Given the description of an element on the screen output the (x, y) to click on. 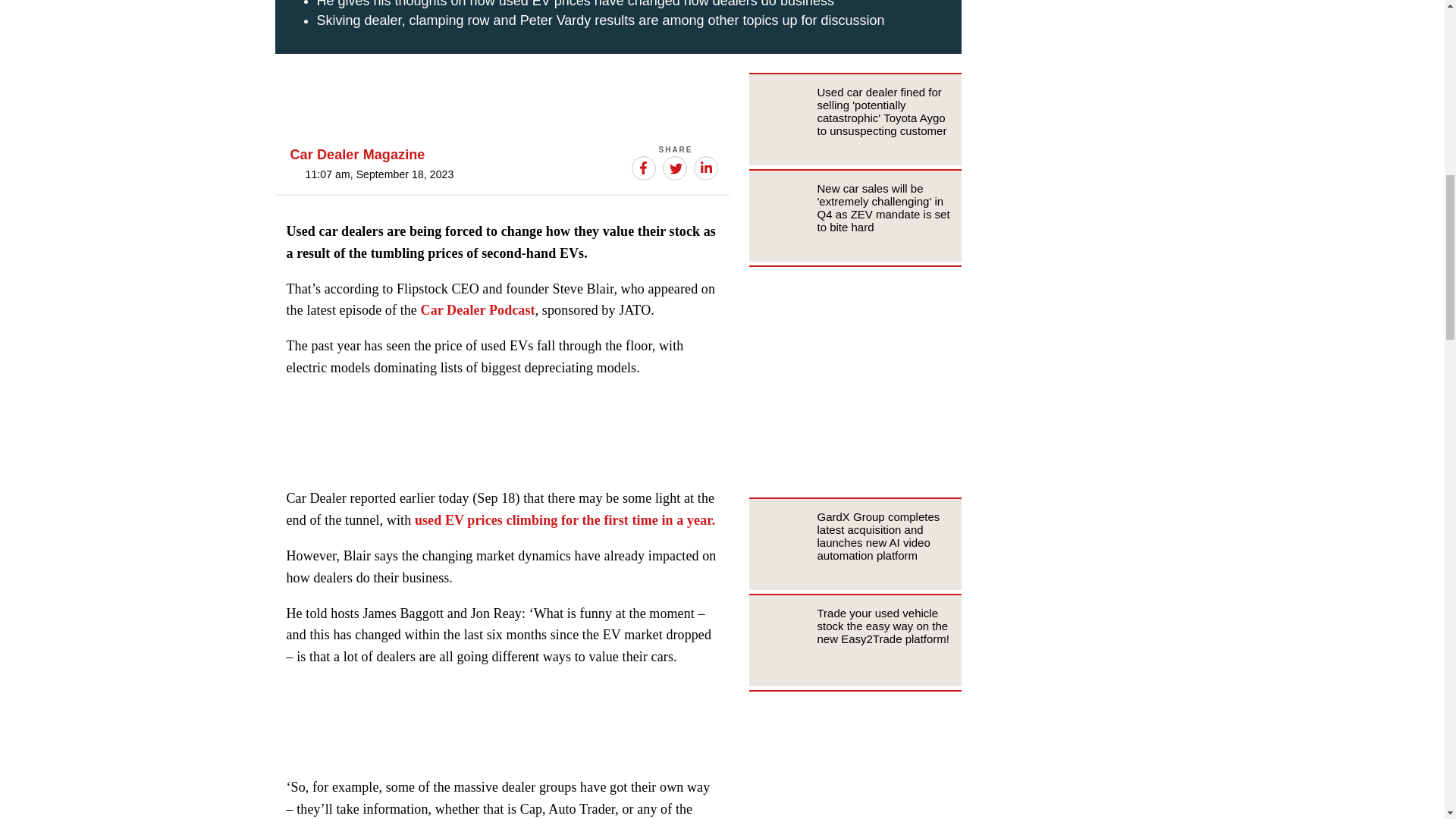
Car Dealer Podcast (477, 309)
used EV prices climbing for the first time in a year. (564, 519)
Posts by Car Dealer Magazine (357, 154)
Car Dealer Magazine (357, 154)
